Given the description of an element on the screen output the (x, y) to click on. 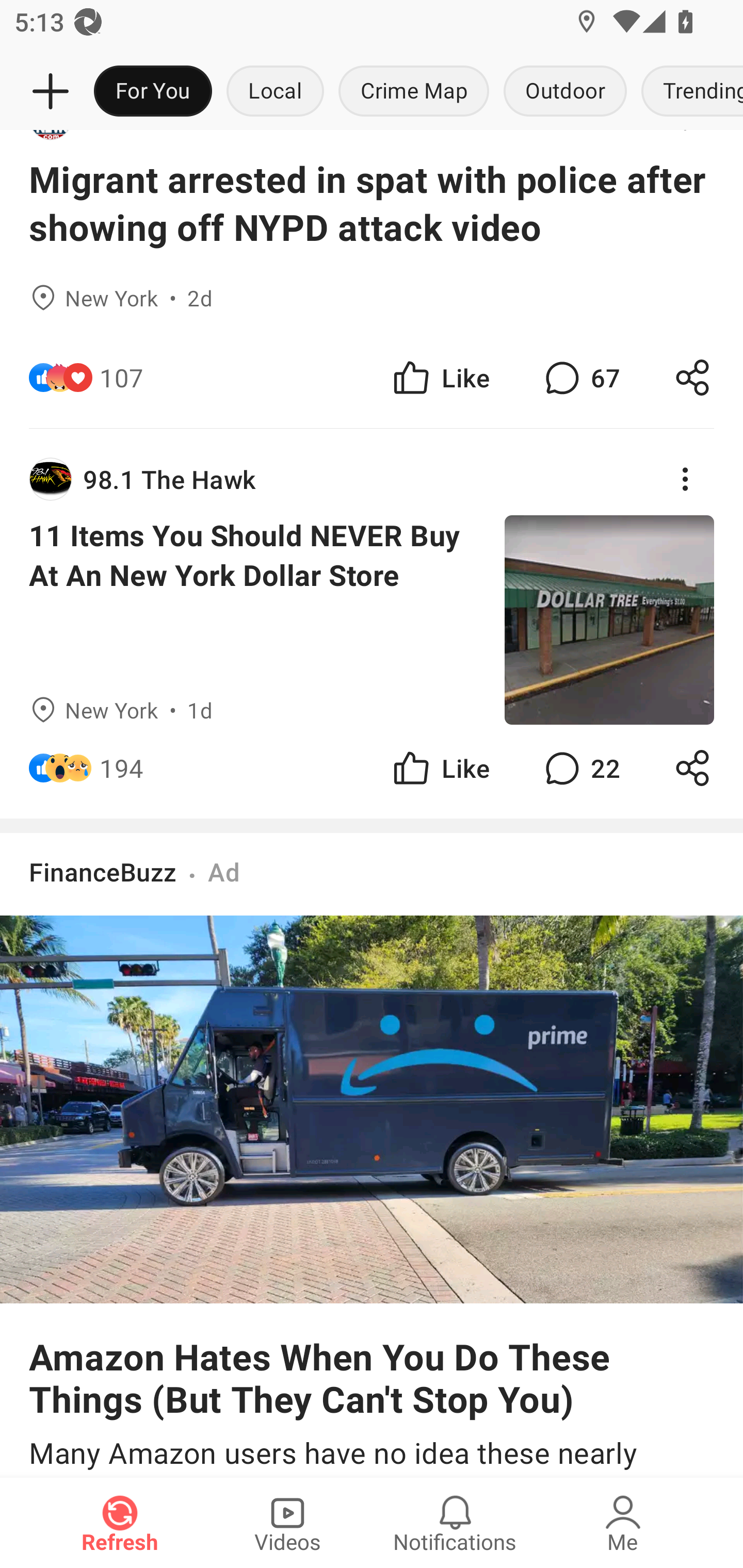
For You (152, 91)
Local (275, 91)
Crime Map (413, 91)
Outdoor (564, 91)
Trending (688, 91)
107 (121, 376)
Like (439, 376)
67 (579, 376)
194 (121, 767)
Like (439, 767)
22 (579, 767)
FinanceBuzz (102, 871)
Videos (287, 1522)
Notifications (455, 1522)
Me (622, 1522)
